Given the description of an element on the screen output the (x, y) to click on. 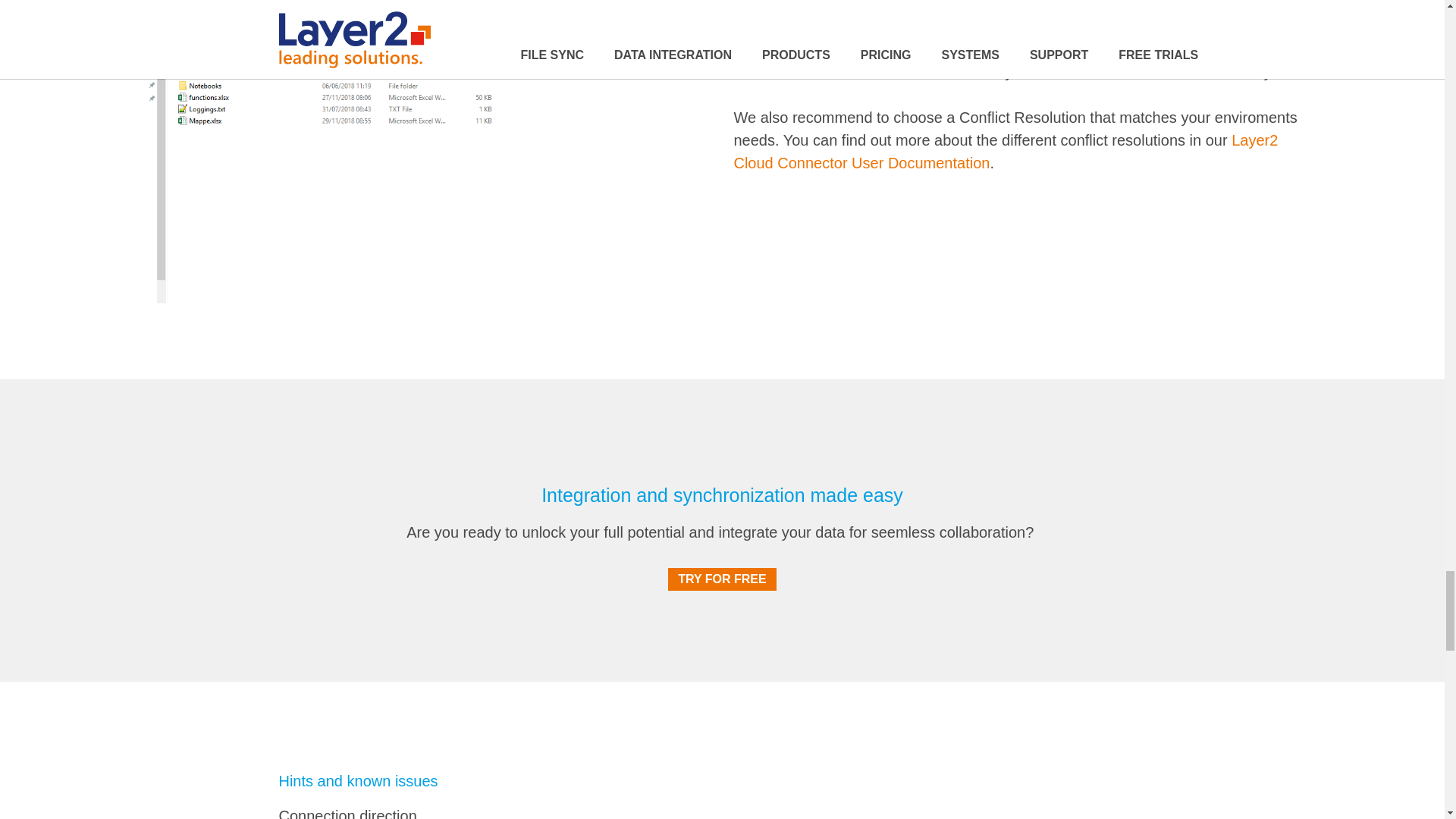
TRY FOR FREE (722, 579)
Layer2 Cloud Connector User Documentation (1005, 151)
